Given the description of an element on the screen output the (x, y) to click on. 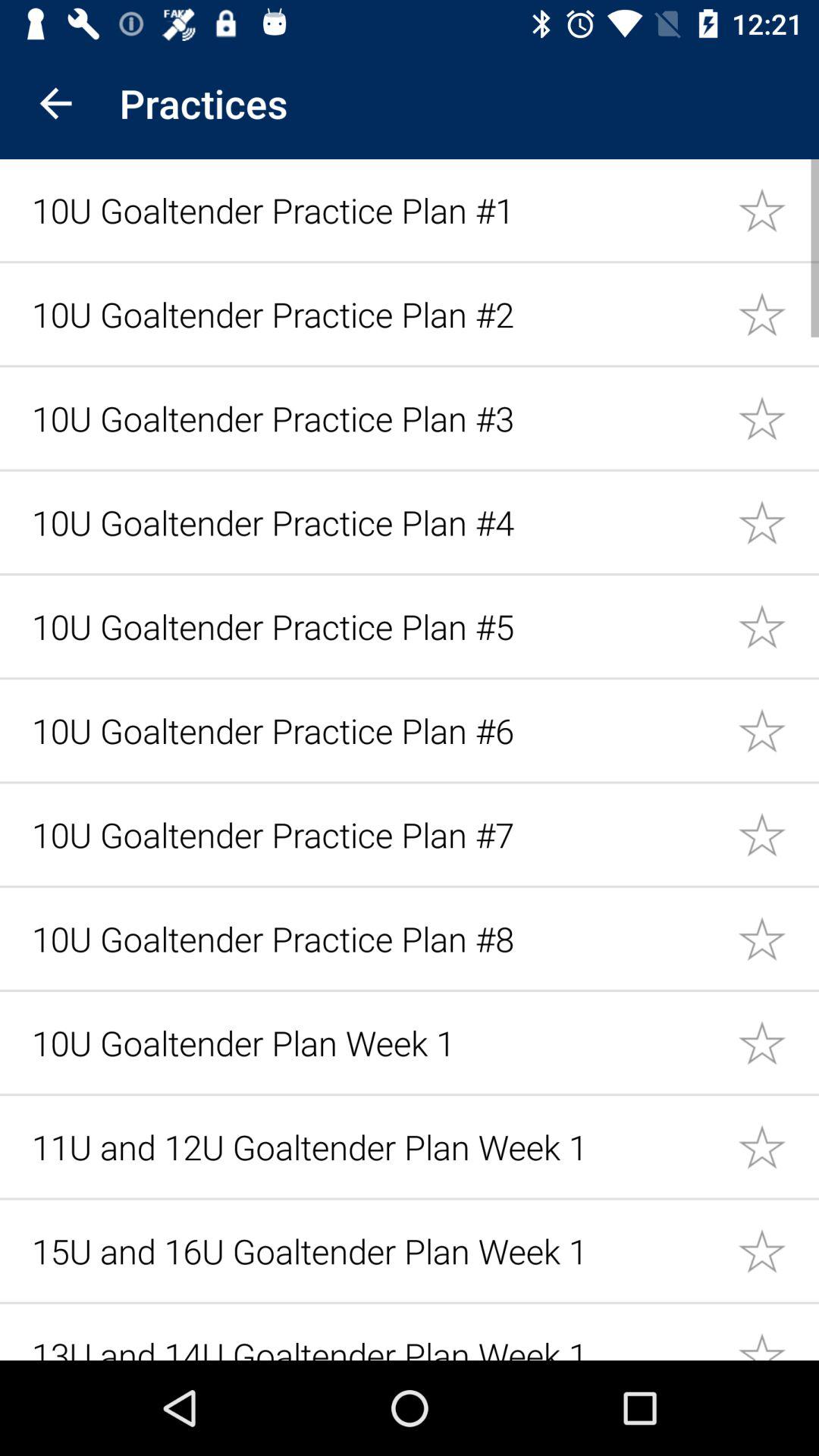
mark item as favorite (778, 834)
